Given the description of an element on the screen output the (x, y) to click on. 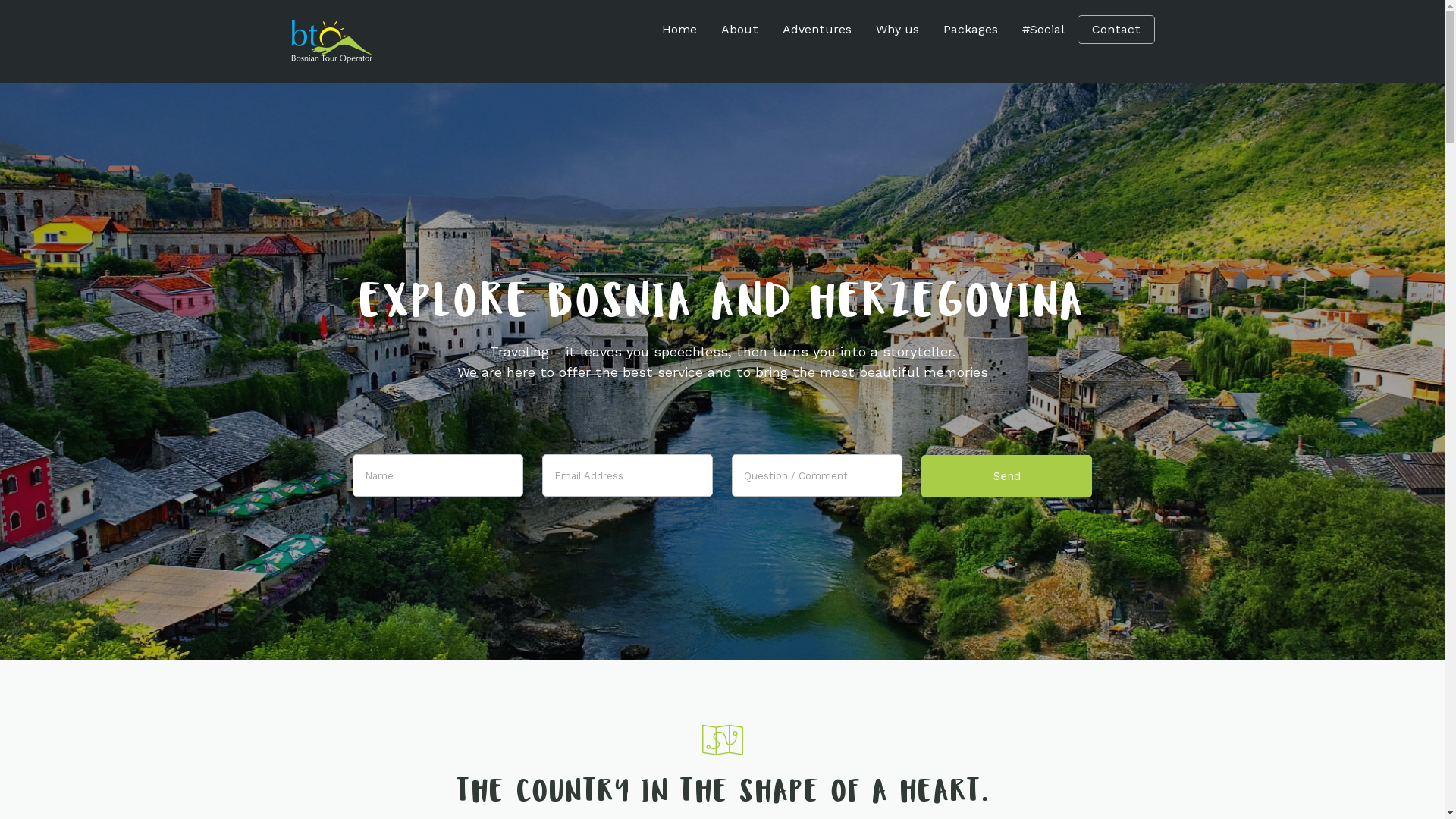
Send Element type: text (1006, 476)
#Social Element type: text (1043, 29)
Adventures Element type: text (816, 29)
About Element type: text (738, 29)
Why us Element type: text (896, 29)
Contact Element type: text (1116, 29)
Home Element type: text (678, 29)
Packages Element type: text (970, 29)
